Given the description of an element on the screen output the (x, y) to click on. 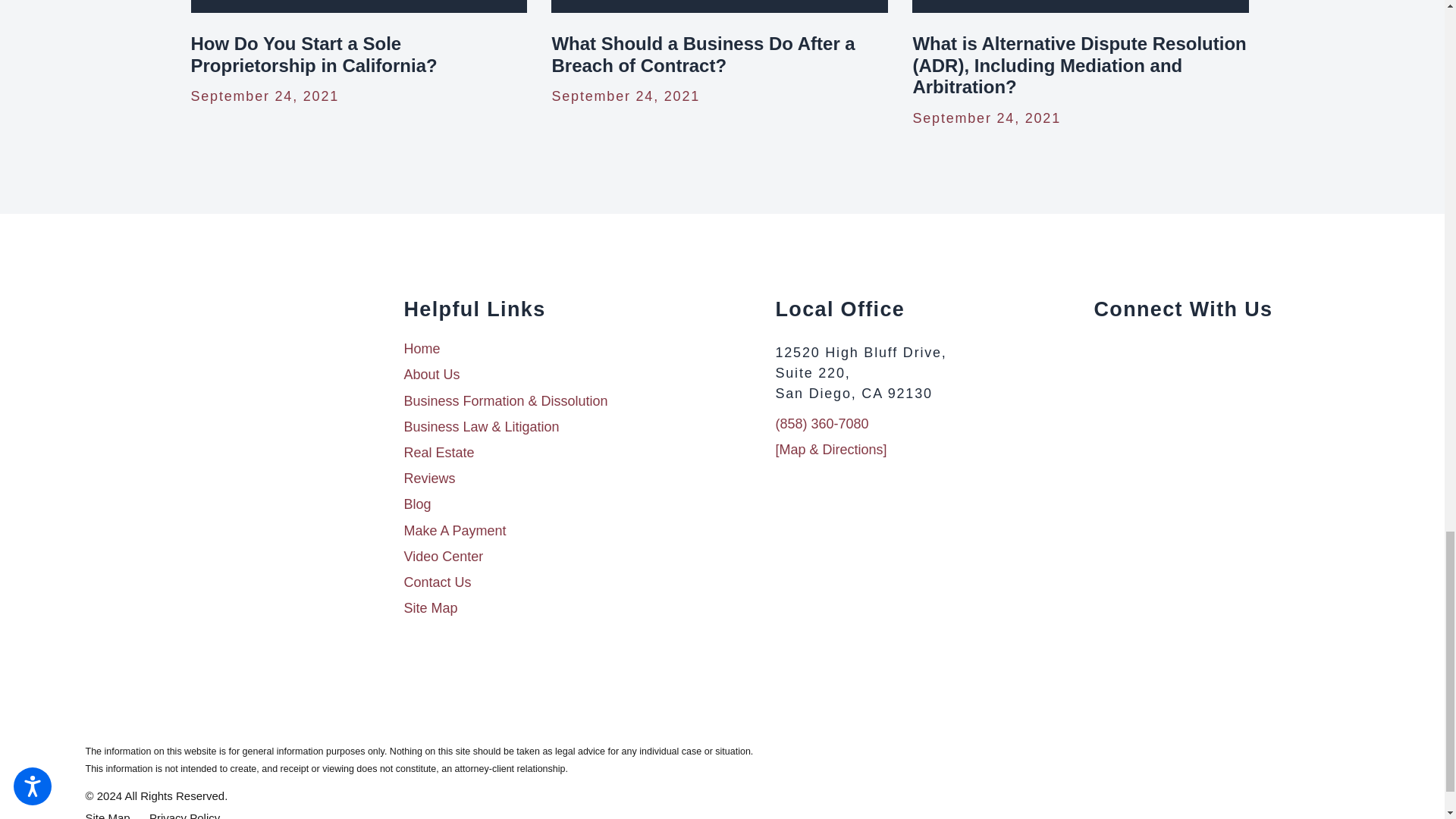
Twitter (1129, 349)
YouTube (1155, 349)
Facebook (1100, 349)
